Given the description of an element on the screen output the (x, y) to click on. 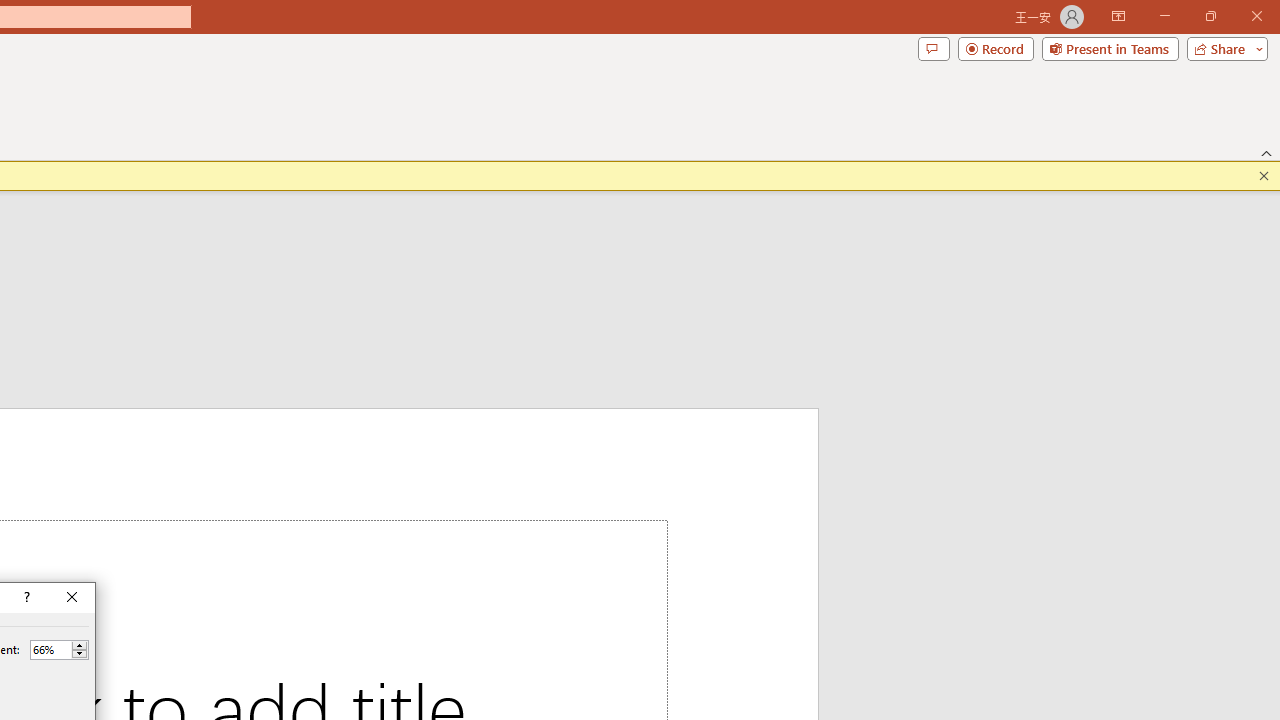
Percent (50, 649)
Percent (59, 650)
Context help (25, 597)
Close this message (1263, 176)
